Given the description of an element on the screen output the (x, y) to click on. 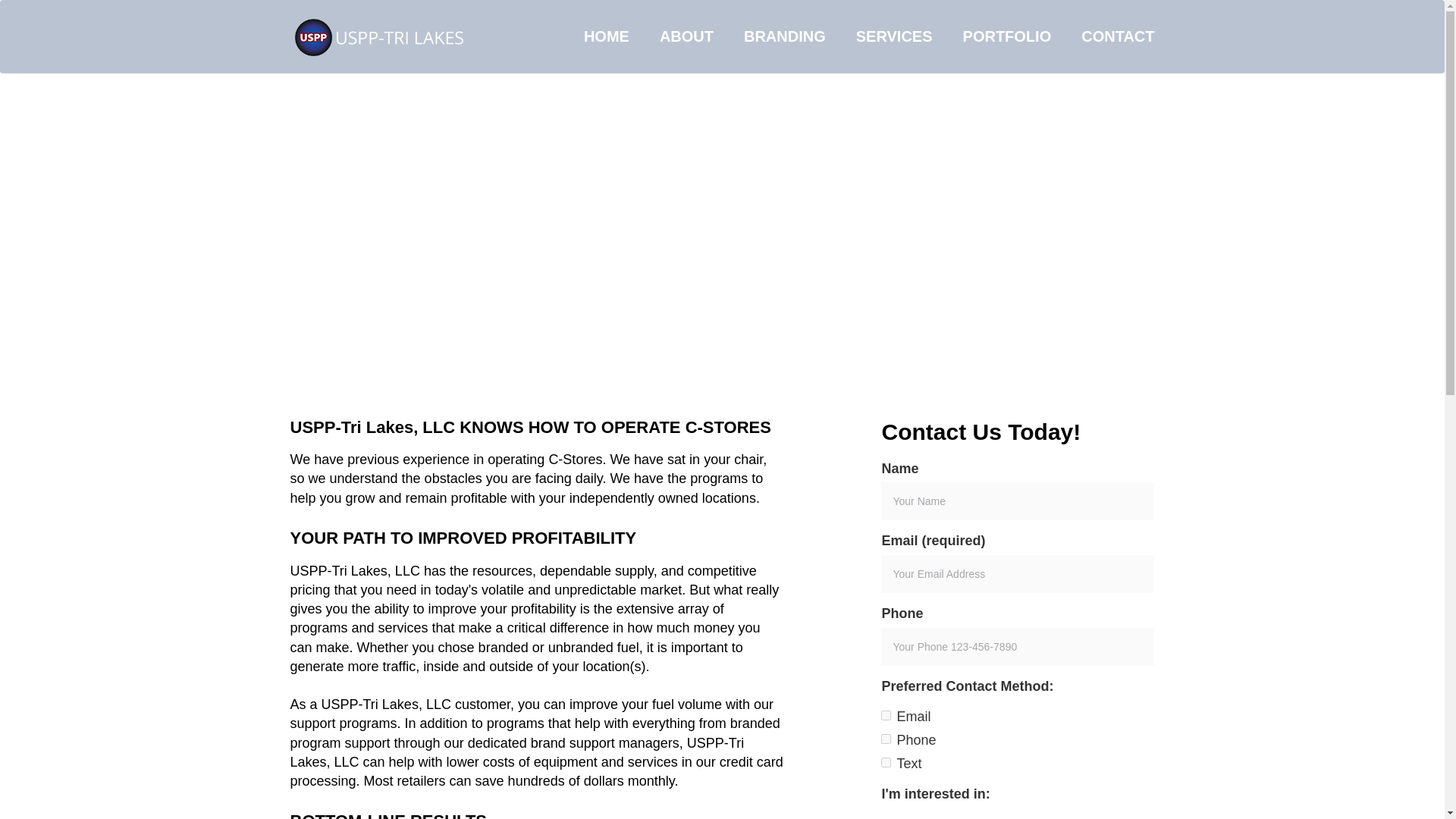
Phone (885, 738)
CONTACT (1109, 36)
ABOUT (687, 36)
SERVICES (894, 36)
Email (885, 715)
BRANDING (785, 36)
Text (885, 762)
HOME (607, 36)
PORTFOLIO (1007, 36)
